Given the description of an element on the screen output the (x, y) to click on. 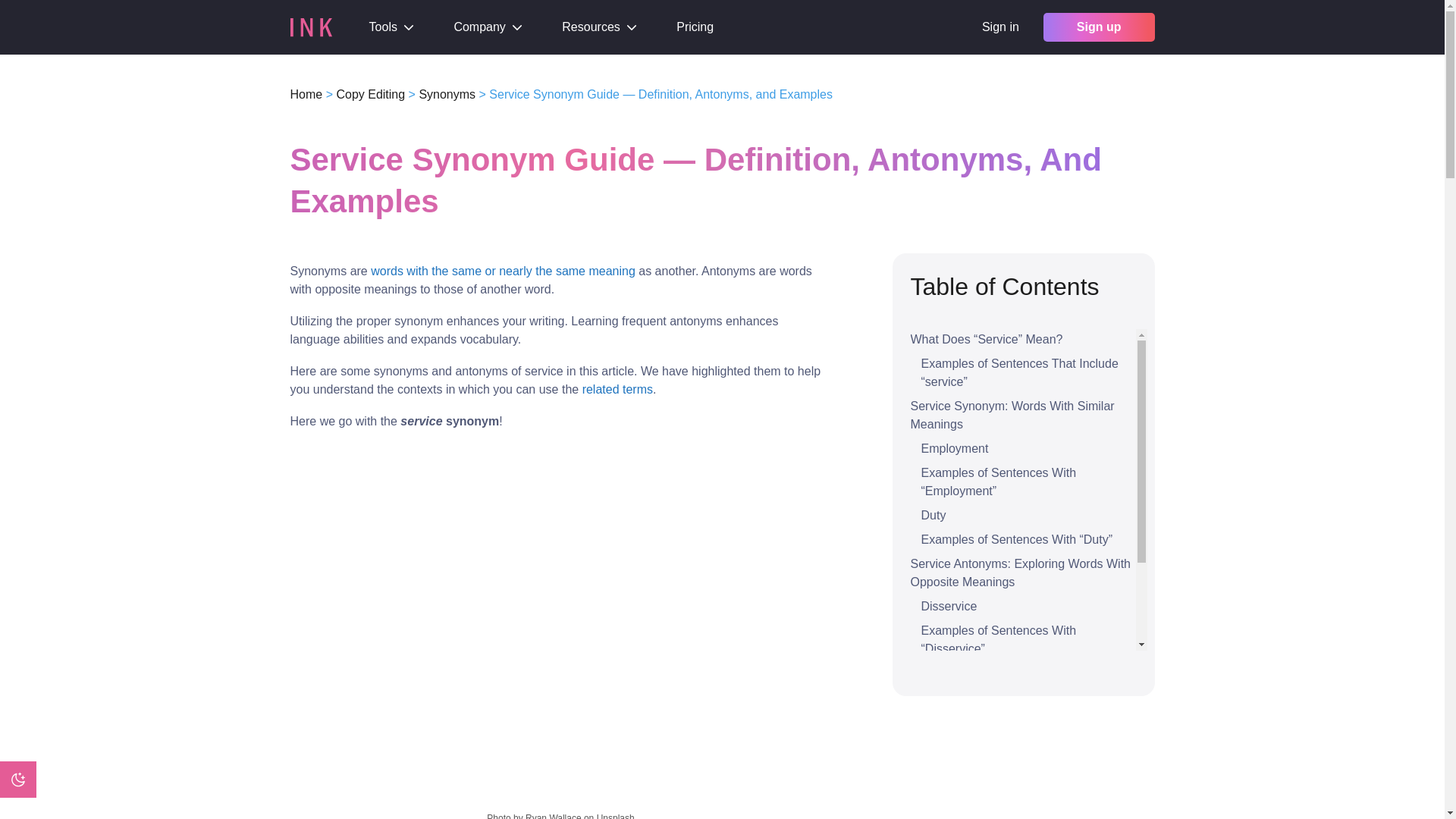
Sign up (1098, 27)
Pricing (694, 27)
Sign in (1000, 27)
